Given the description of an element on the screen output the (x, y) to click on. 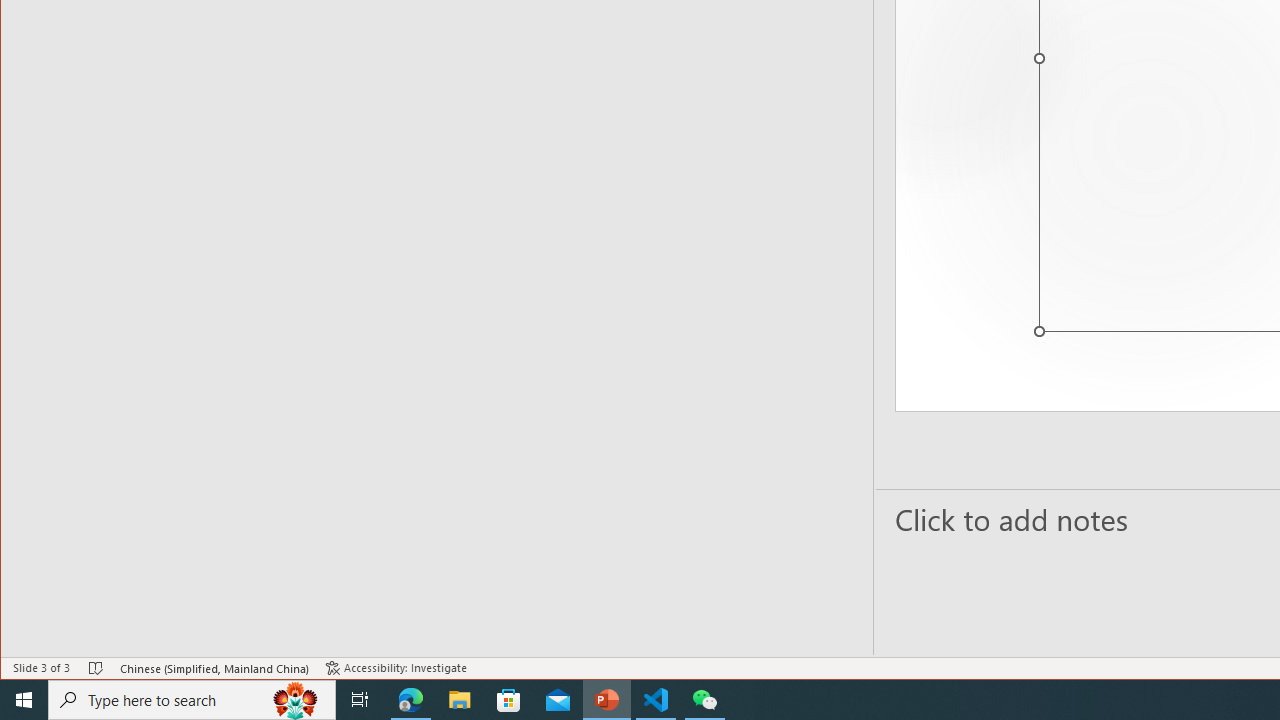
Microsoft Edge - 1 running window (411, 699)
WeChat - 1 running window (704, 699)
